Given the description of an element on the screen output the (x, y) to click on. 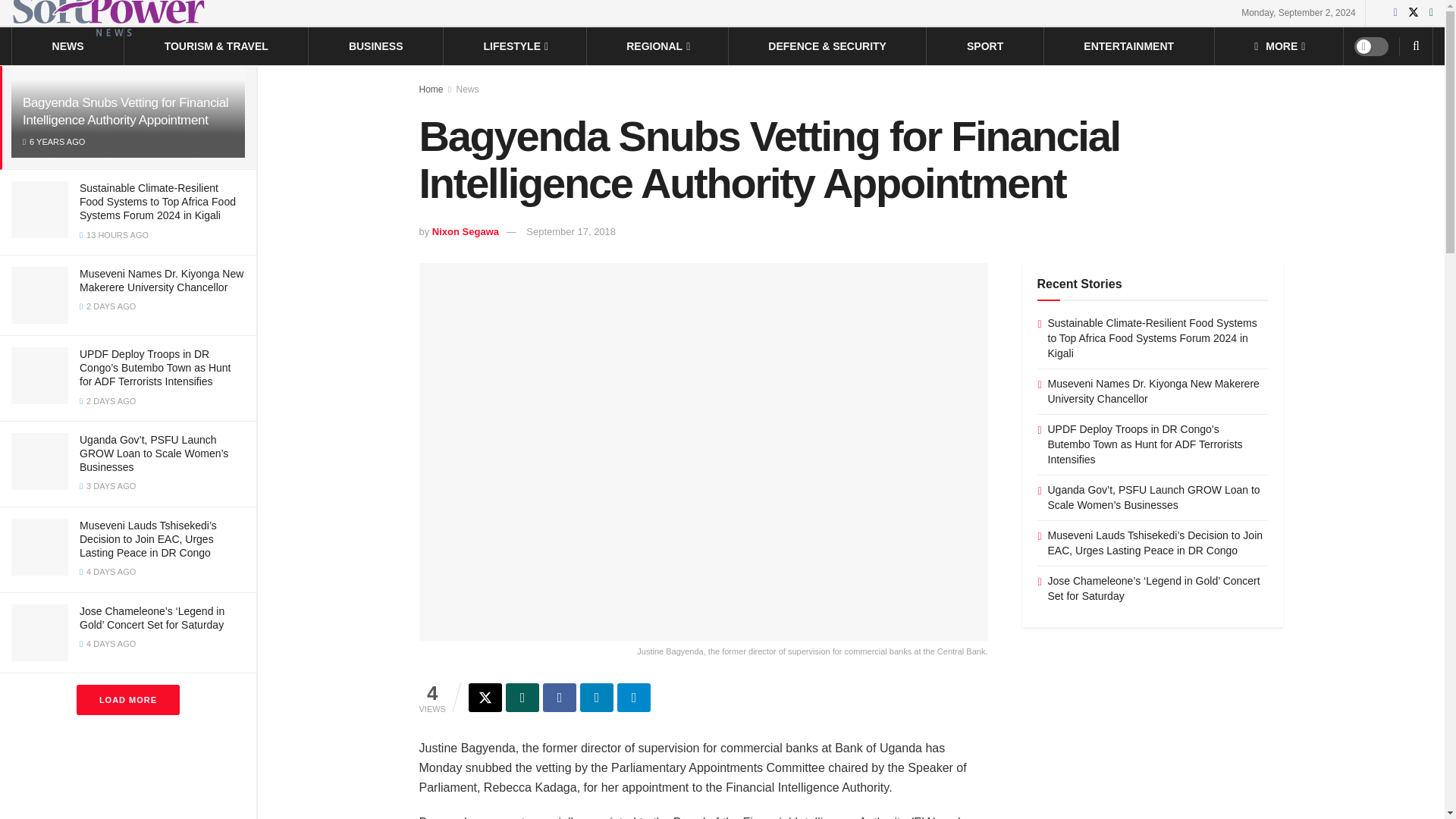
NEWS (68, 46)
LIFESTYLE (515, 46)
MORE (1278, 46)
BUSINESS (376, 46)
REGIONAL (656, 46)
SPORT (984, 46)
LOAD MORE (128, 699)
